Given the description of an element on the screen output the (x, y) to click on. 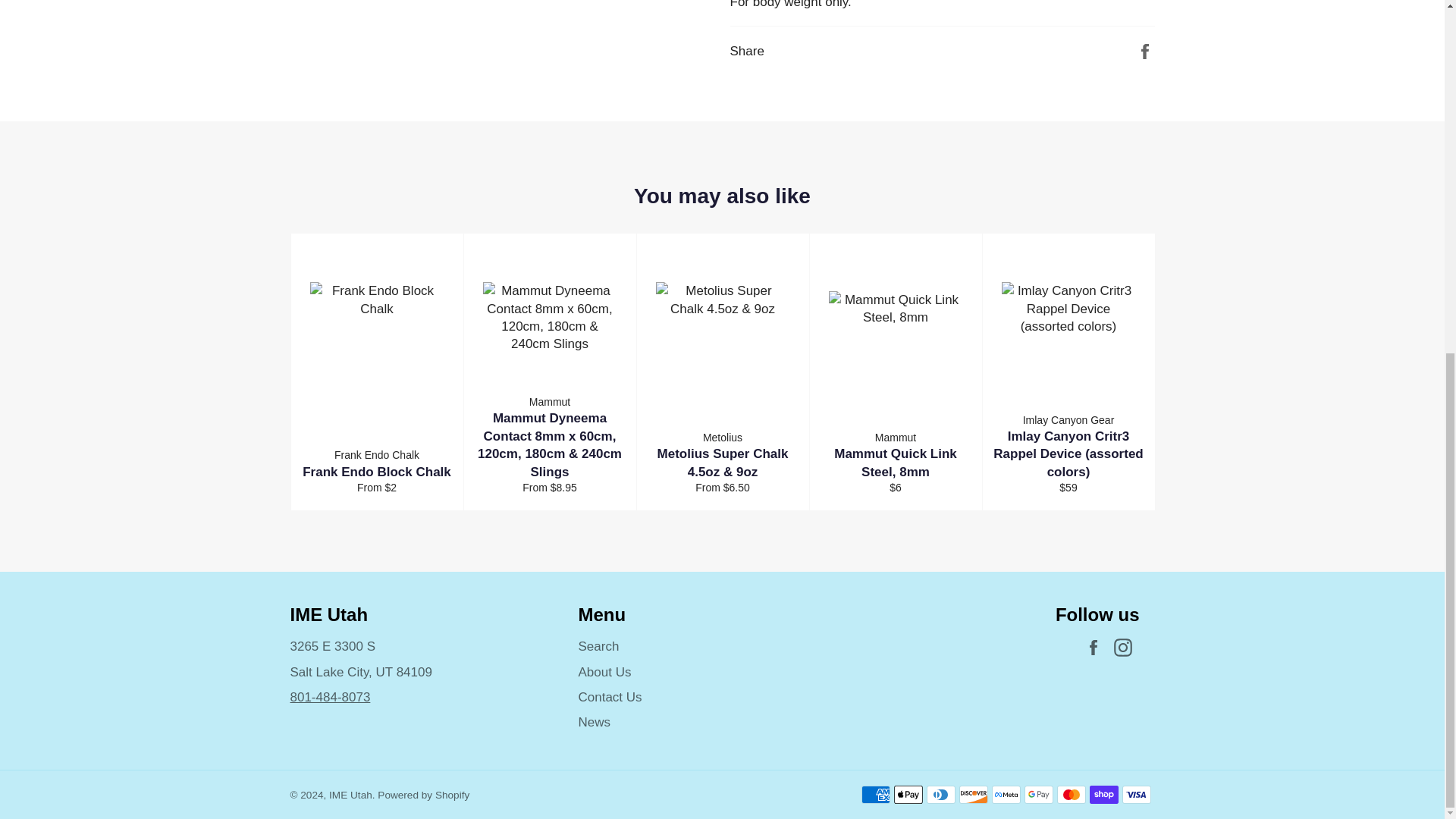
IME Utah on Facebook (1096, 647)
Share on Facebook (1144, 50)
IME Utah on Instagram (1125, 647)
